Given the description of an element on the screen output the (x, y) to click on. 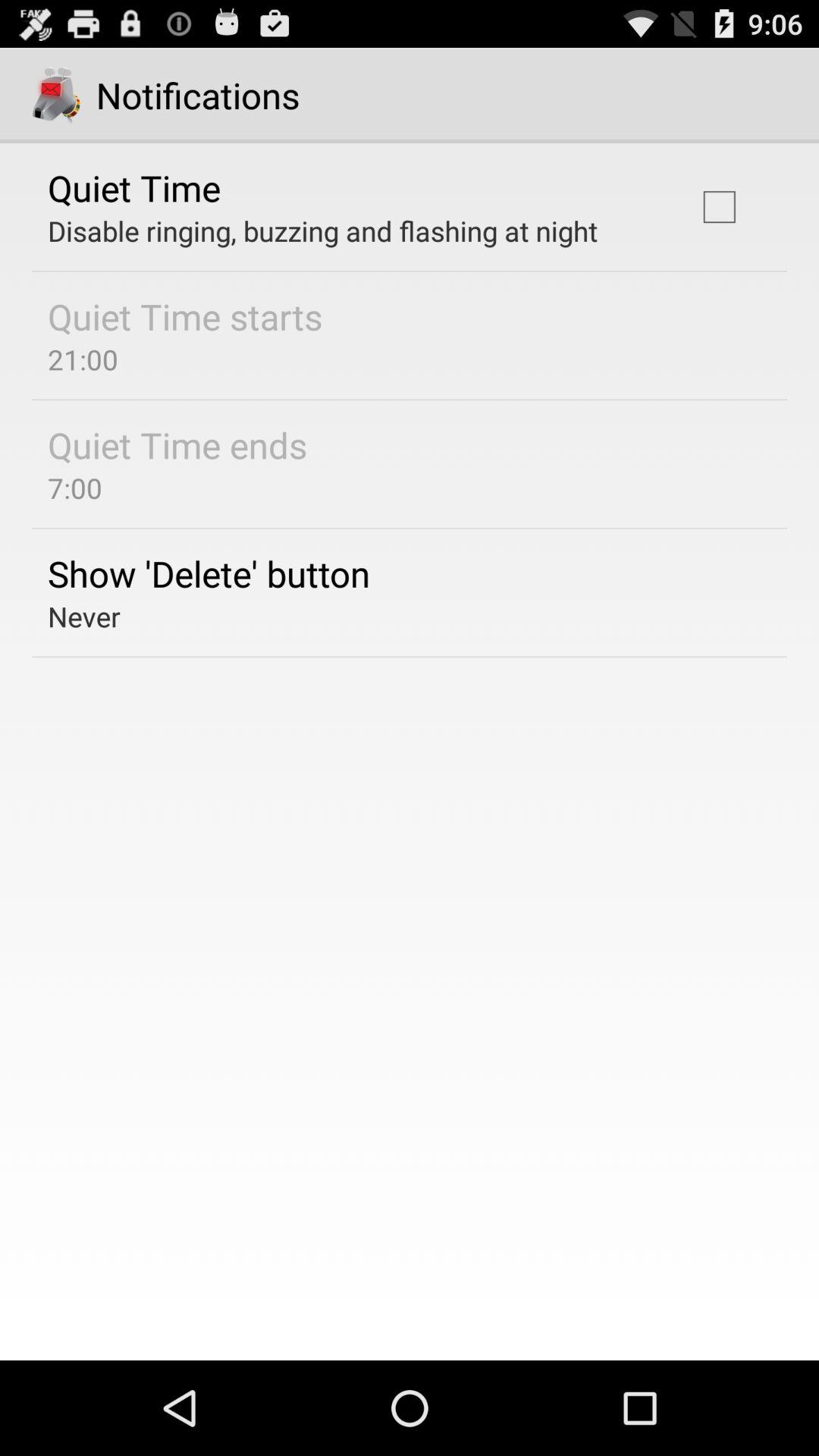
swipe until the disable ringing buzzing (322, 230)
